Given the description of an element on the screen output the (x, y) to click on. 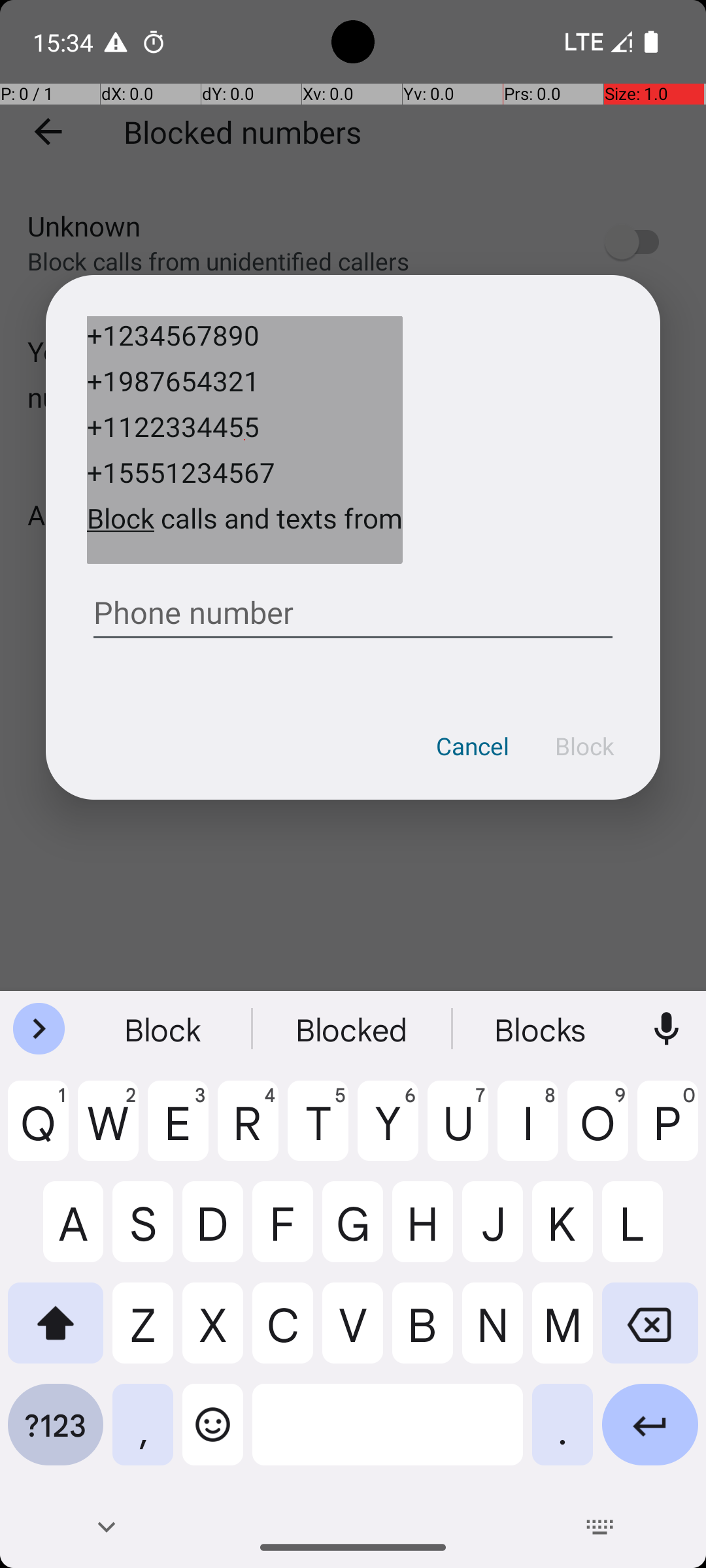
+1234567890
+1987654321
+1122334455
+15551234567
Block calls and texts from Element type: android.widget.TextView (244, 439)
Phone number Element type: android.widget.EditText (352, 607)
Block Element type: android.widget.Button (584, 745)
Open features menu Element type: android.widget.FrameLayout (39, 1028)
Blocked Element type: android.widget.FrameLayout (352, 1028)
Blocks Element type: android.widget.FrameLayout (541, 1028)
Voice input Element type: android.widget.FrameLayout (666, 1028)
Q Element type: android.widget.FrameLayout (38, 1130)
E Element type: android.widget.FrameLayout (178, 1130)
R Element type: android.widget.FrameLayout (248, 1130)
Y Element type: android.widget.FrameLayout (387, 1130)
U Element type: android.widget.FrameLayout (457, 1130)
I Element type: android.widget.FrameLayout (527, 1130)
O Element type: android.widget.FrameLayout (597, 1130)
P Element type: android.widget.FrameLayout (667, 1130)
A Element type: android.widget.FrameLayout (55, 1231)
D Element type: android.widget.FrameLayout (212, 1231)
G Element type: android.widget.FrameLayout (352, 1231)
H Element type: android.widget.FrameLayout (422, 1231)
J Element type: android.widget.FrameLayout (492, 1231)
K Element type: android.widget.FrameLayout (562, 1231)
L Element type: android.widget.FrameLayout (649, 1231)
Z Element type: android.widget.FrameLayout (142, 1332)
X Element type: android.widget.FrameLayout (212, 1332)
C Element type: android.widget.FrameLayout (282, 1332)
V Element type: android.widget.FrameLayout (352, 1332)
B Element type: android.widget.FrameLayout (422, 1332)
N Element type: android.widget.FrameLayout (492, 1332)
Emoji button Element type: android.widget.FrameLayout (212, 1434)
Enter Element type: android.widget.FrameLayout (649, 1434)
